Given the description of an element on the screen output the (x, y) to click on. 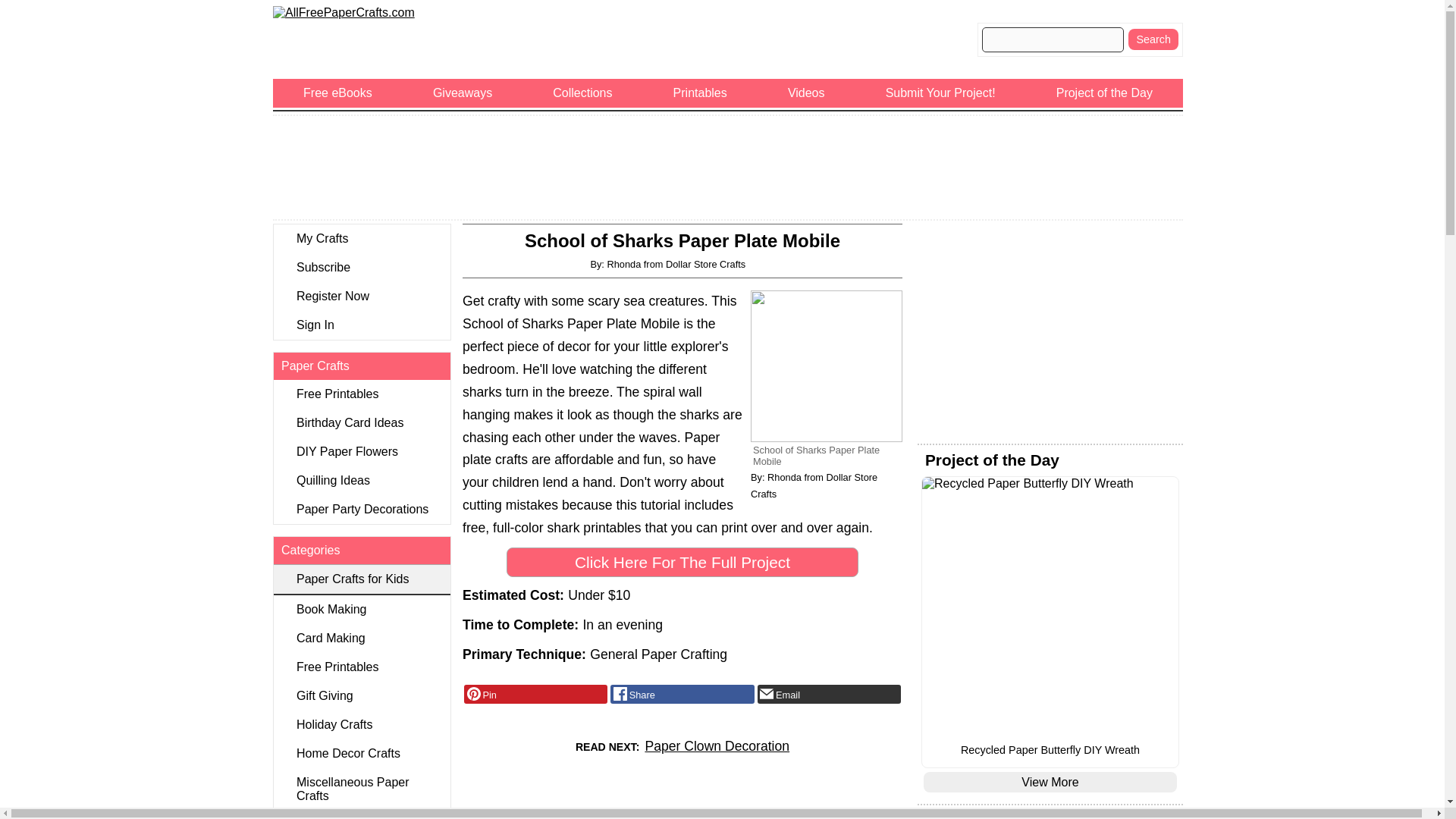
Search (1152, 38)
Subscribe (361, 267)
Facebook (682, 694)
Sign In (361, 325)
School of Sharks Paper Plate Mobile (826, 366)
Email (829, 694)
My Crafts (361, 238)
Register Now (361, 296)
